Given the description of an element on the screen output the (x, y) to click on. 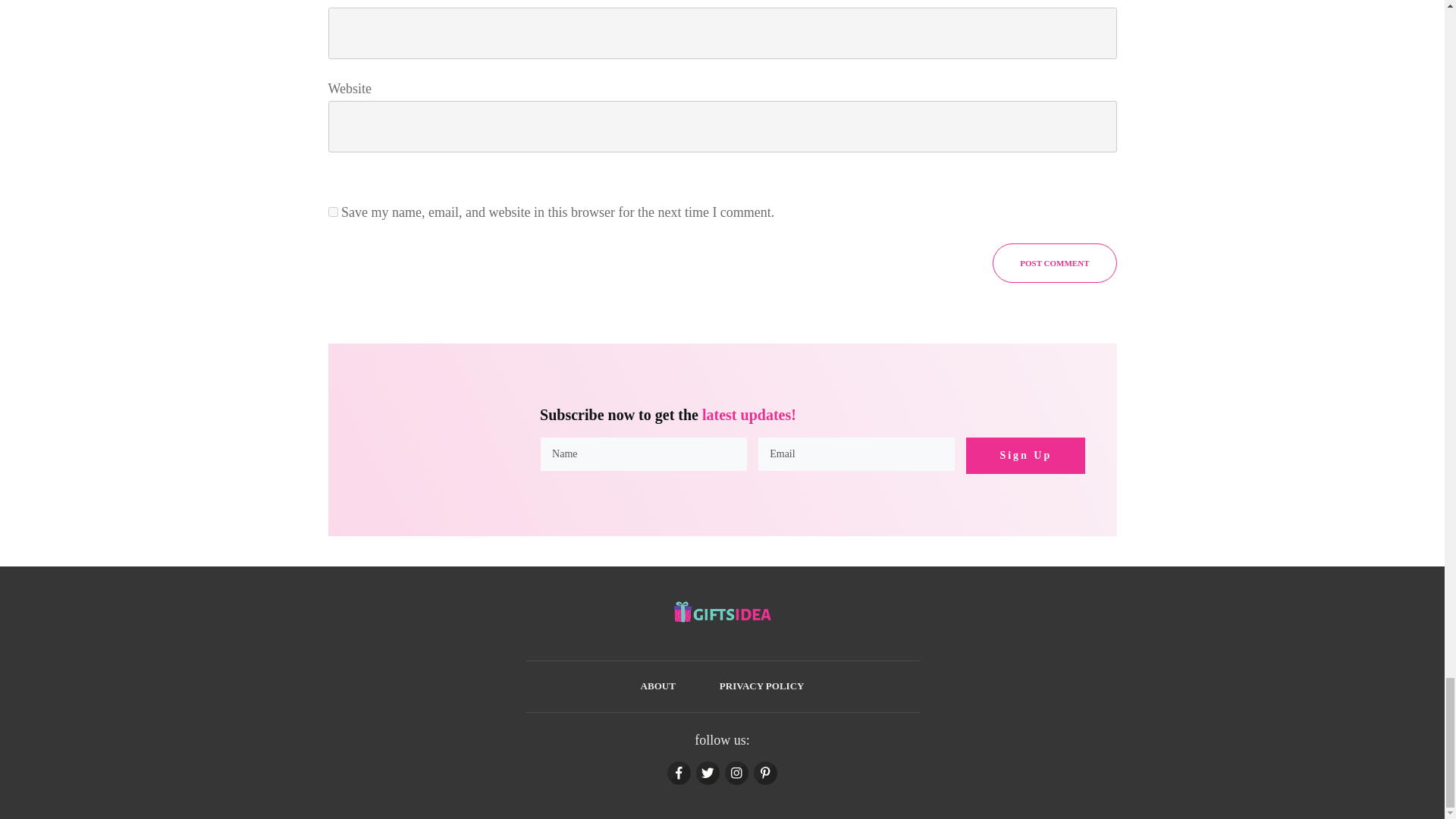
POST COMMENT (1054, 262)
yes (332, 212)
Sign Up (1025, 455)
ABOUT (657, 686)
PRIVACY POLICY (762, 686)
